Given the description of an element on the screen output the (x, y) to click on. 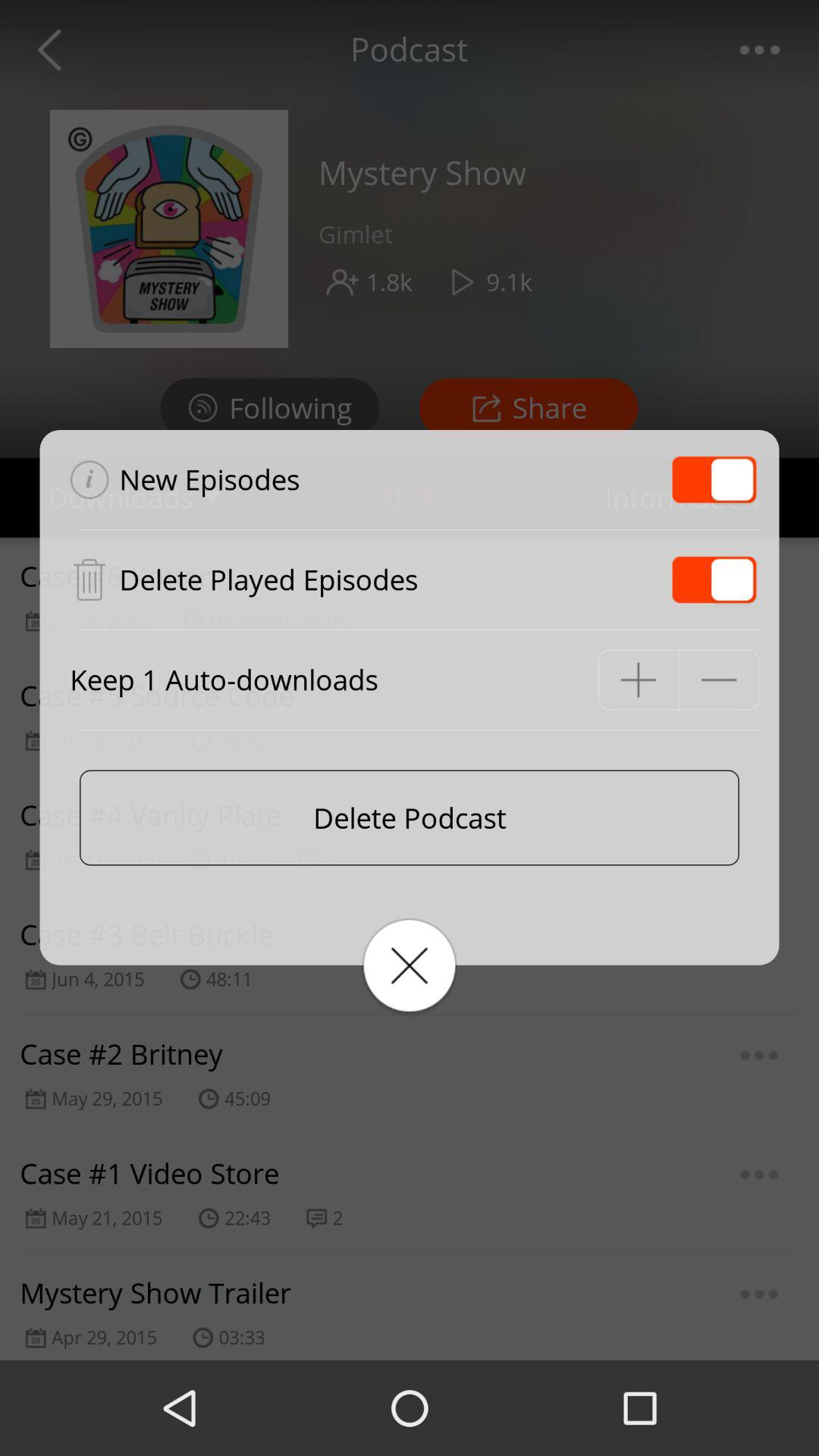
turn off icon next to the keep 1 auto icon (638, 679)
